Given the description of an element on the screen output the (x, y) to click on. 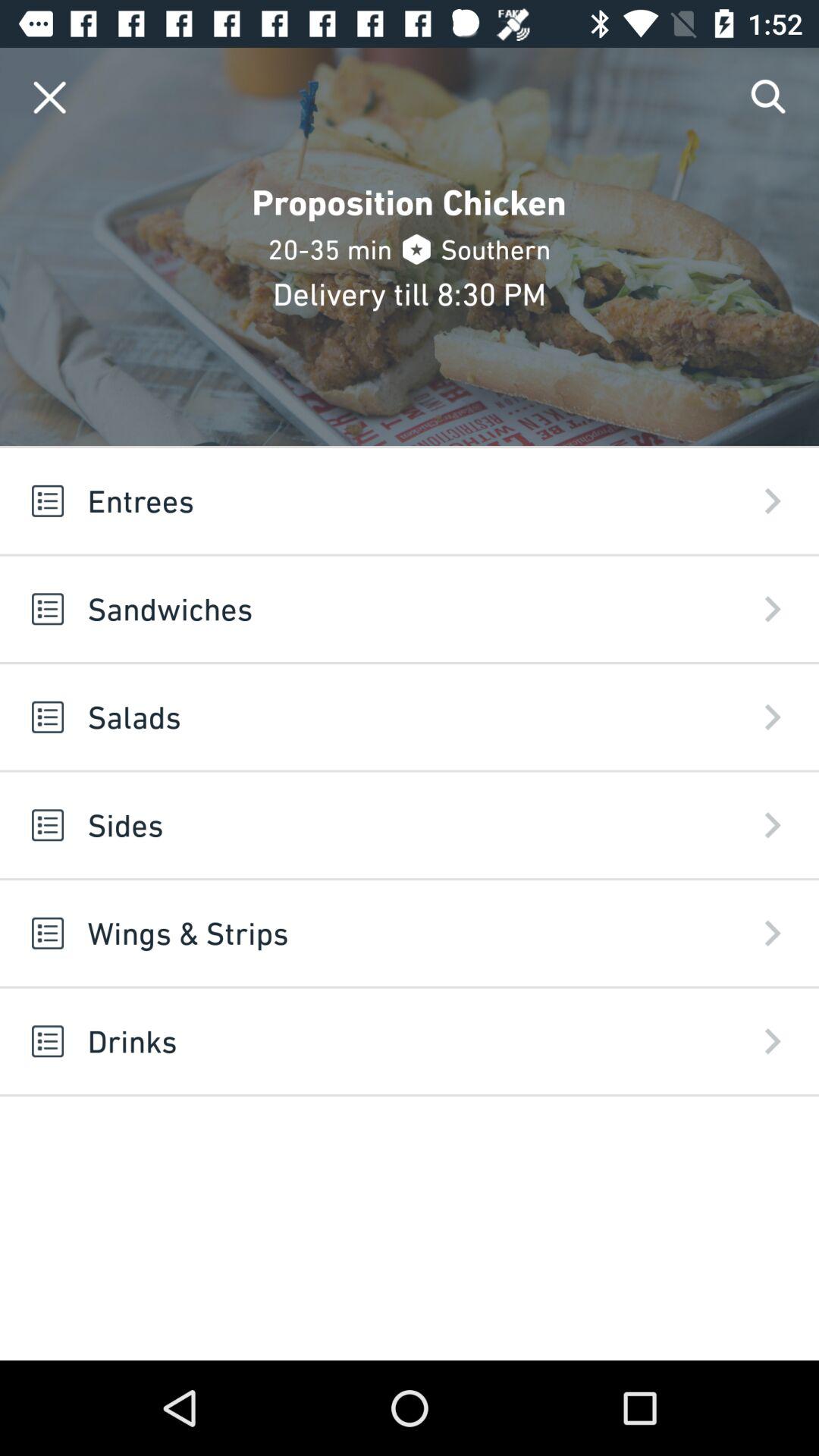
turn off the icon at the top left corner (49, 97)
